Given the description of an element on the screen output the (x, y) to click on. 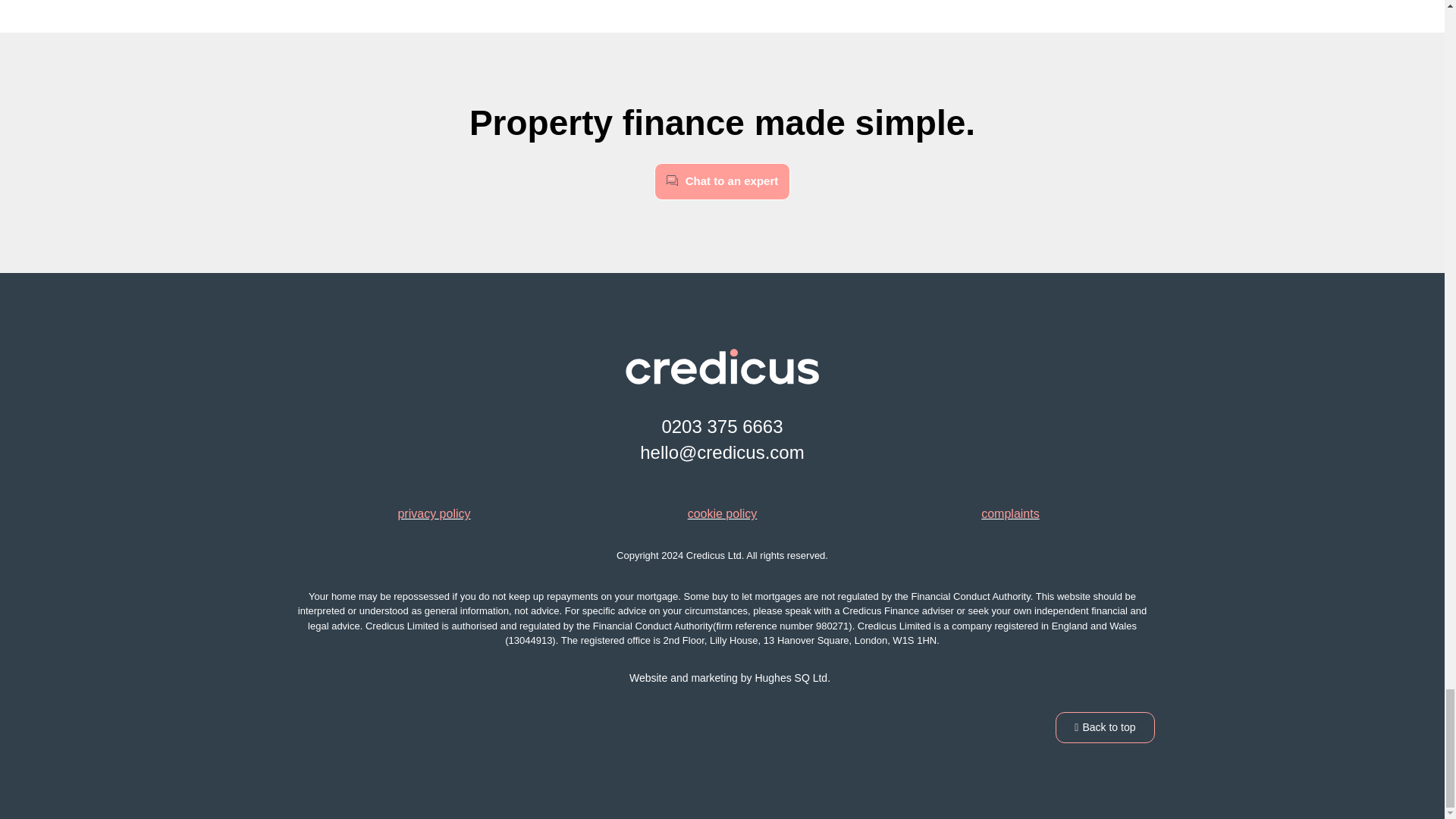
Chat to an expert (721, 180)
complaints (1010, 513)
privacy policy (433, 513)
cookie policy (722, 513)
Back to top (1104, 726)
